Given the description of an element on the screen output the (x, y) to click on. 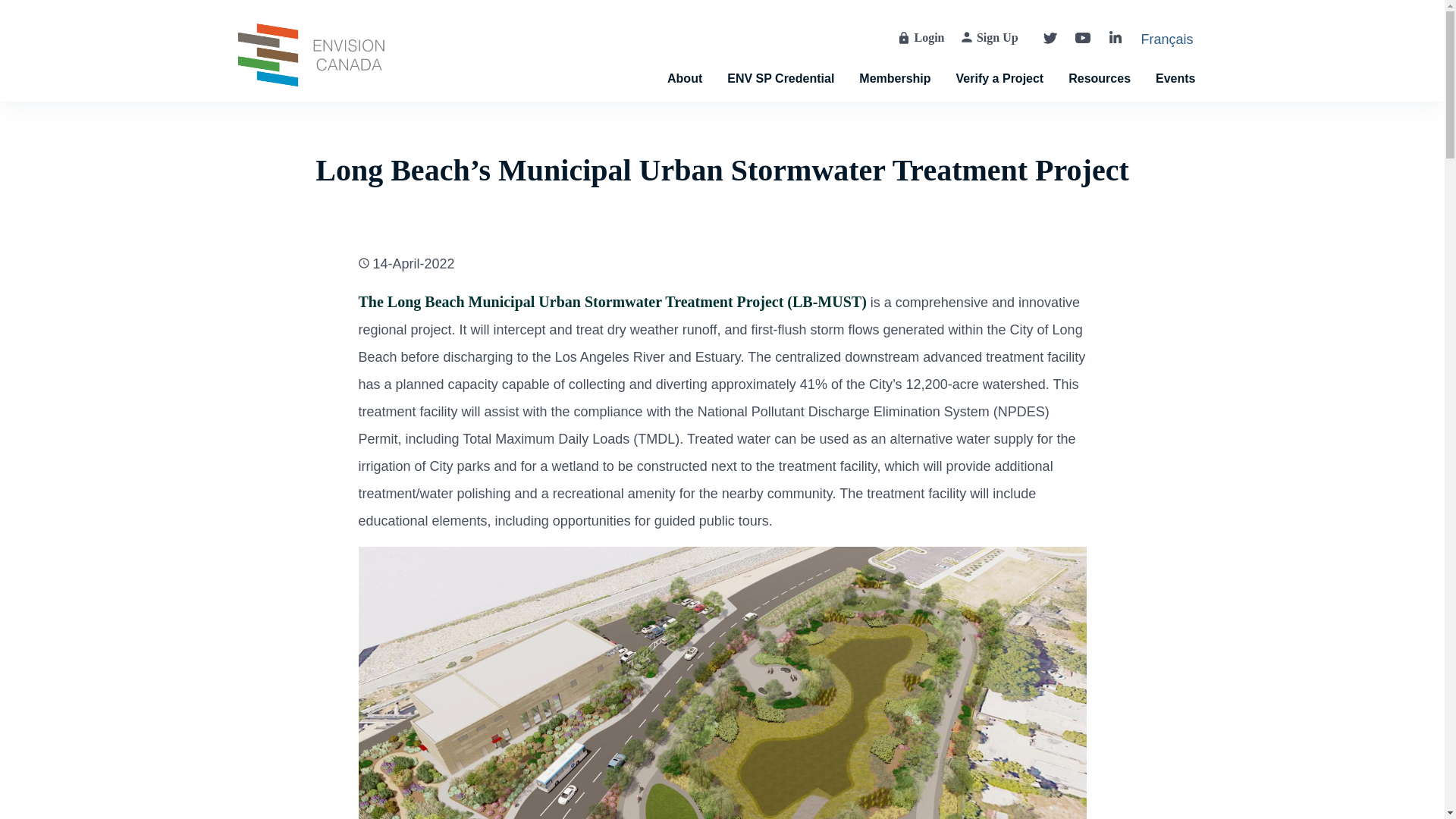
Membership (893, 61)
Login (929, 37)
About (683, 61)
Linkedin (1115, 37)
Events (1174, 61)
Twitter (1050, 38)
Sign Up (996, 37)
French (1166, 42)
Youtube (1082, 37)
Verify a Project (1000, 61)
ENV SP Credential (779, 61)
Resources (1098, 61)
